Given the description of an element on the screen output the (x, y) to click on. 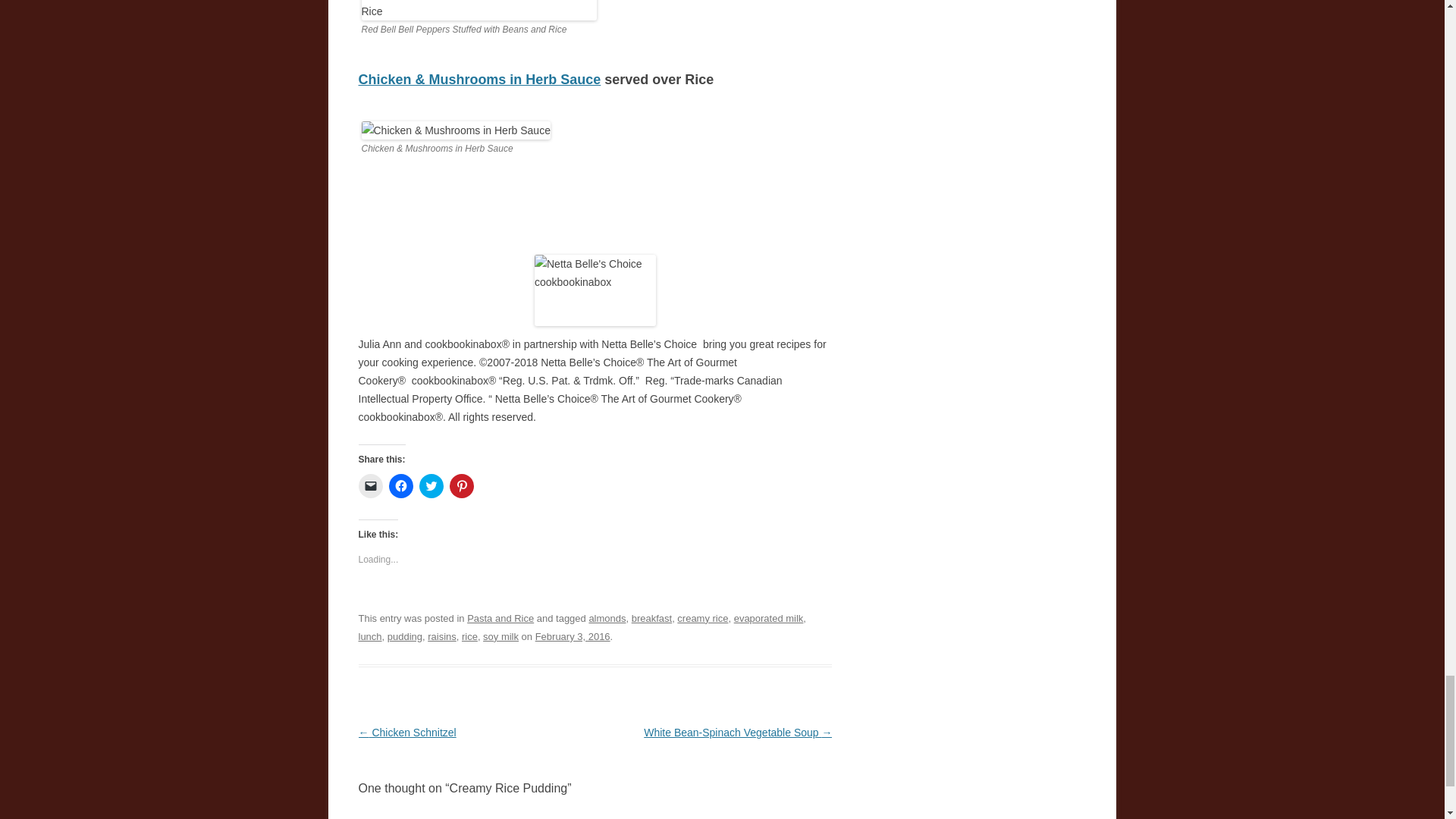
Click to share on Twitter (430, 485)
3:44 pm (572, 636)
Click to share on Facebook (400, 485)
Click to share on Pinterest (460, 485)
Click to email a link to a friend (369, 485)
